Given the description of an element on the screen output the (x, y) to click on. 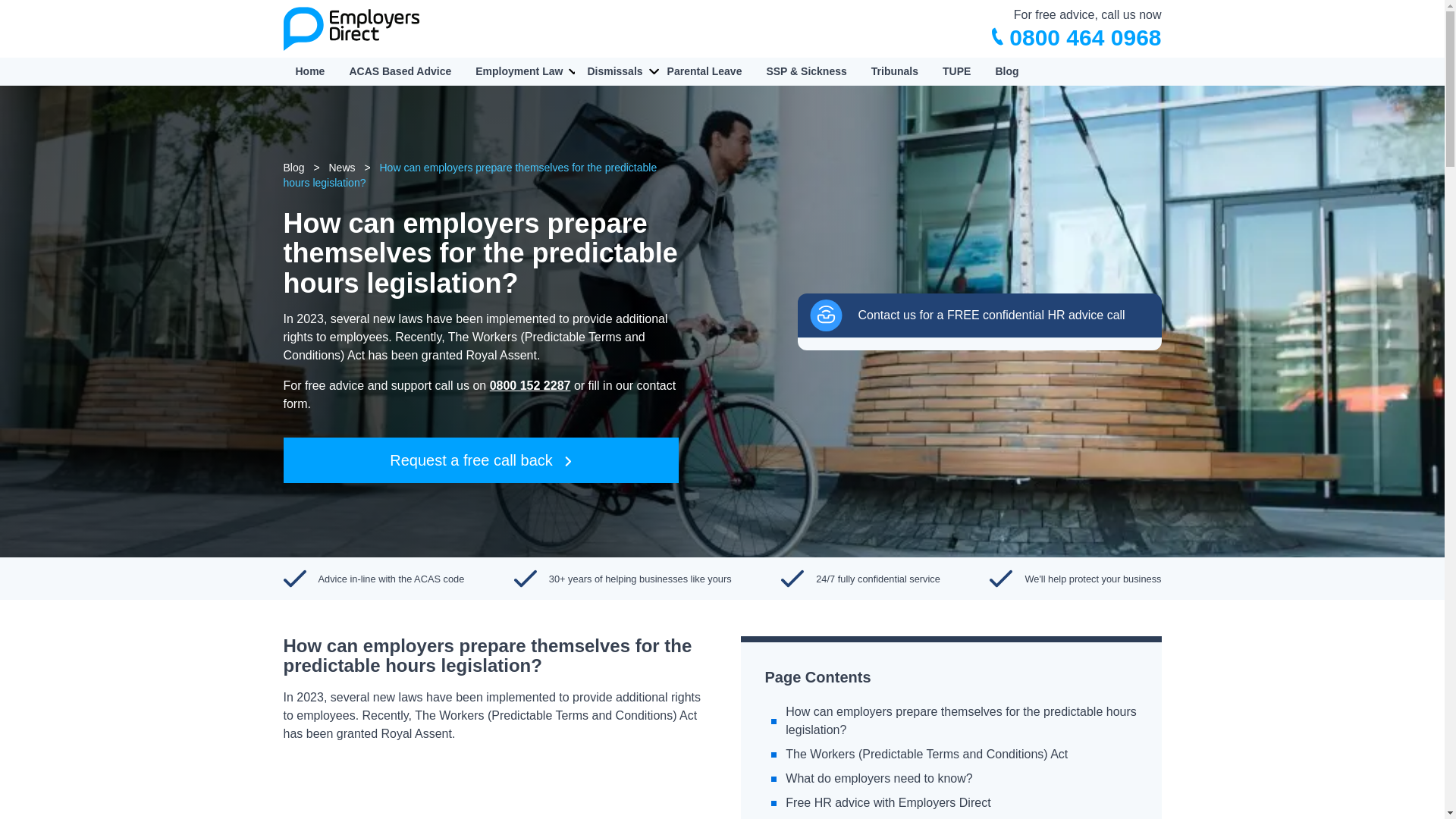
TUPE (956, 70)
Blog (297, 167)
News (342, 167)
Free HR advice with Employers Direct (888, 802)
Parental Leave (704, 70)
Dismissals (614, 70)
UK Employment Law specialists (872, 816)
Blog (1005, 70)
ACAS Based Advice (400, 70)
